Given the description of an element on the screen output the (x, y) to click on. 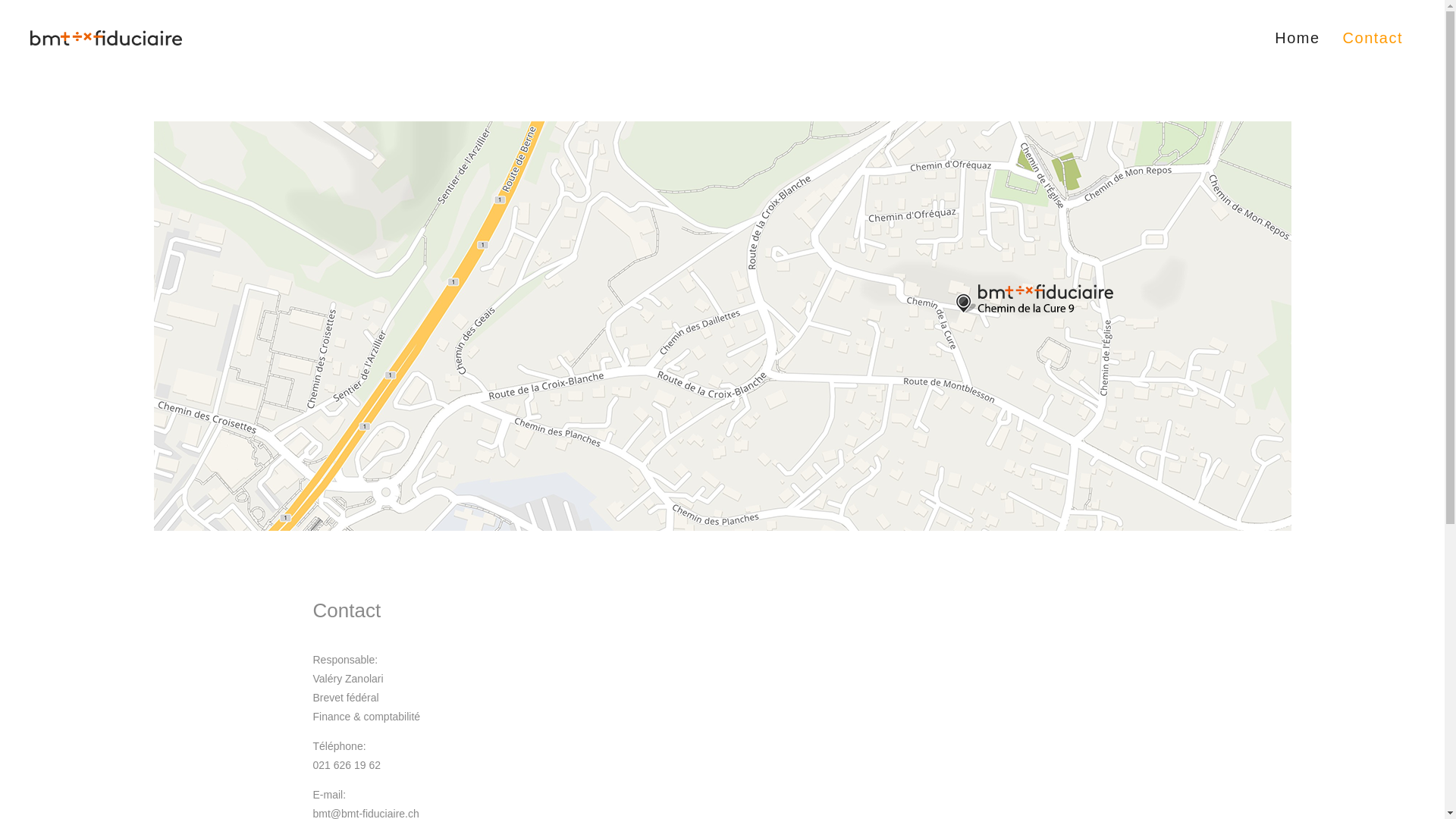
Home Element type: text (1296, 37)
Contact Element type: text (1372, 37)
